Given the description of an element on the screen output the (x, y) to click on. 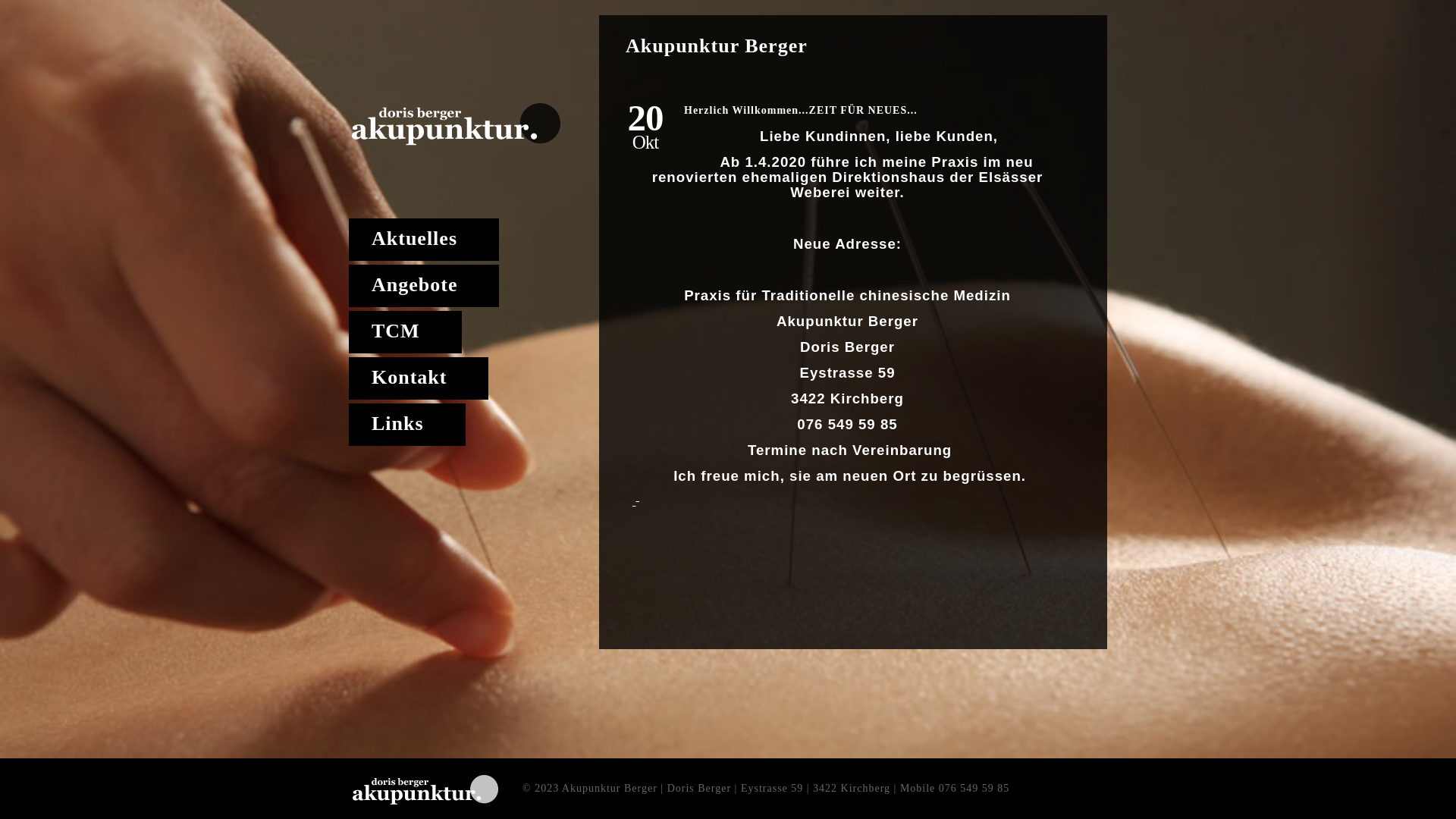
Angebote Element type: text (423, 285)
TCM Element type: text (404, 331)
Aktuelles Element type: text (423, 239)
Links Element type: text (406, 424)
Kontakt Element type: text (418, 378)
